Given the description of an element on the screen output the (x, y) to click on. 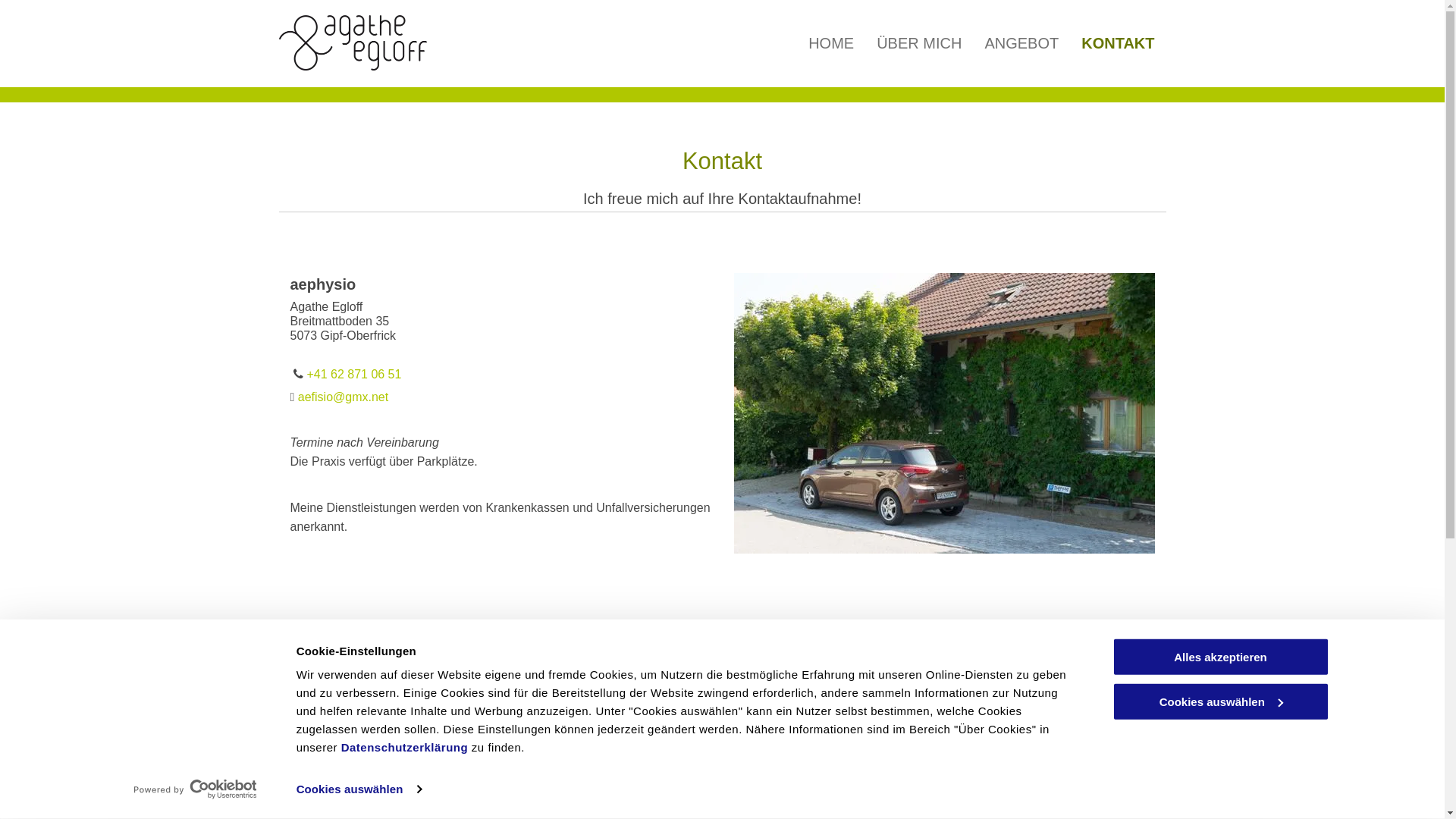
+41 62 871 06 51 Element type: text (353, 373)
aefisio@gmx.net Element type: text (343, 396)
Alles akzeptieren Element type: text (1219, 656)
ANGEBOT Element type: text (1021, 43)
HOME Element type: text (830, 43)
KONTAKT Element type: text (1117, 43)
